Given the description of an element on the screen output the (x, y) to click on. 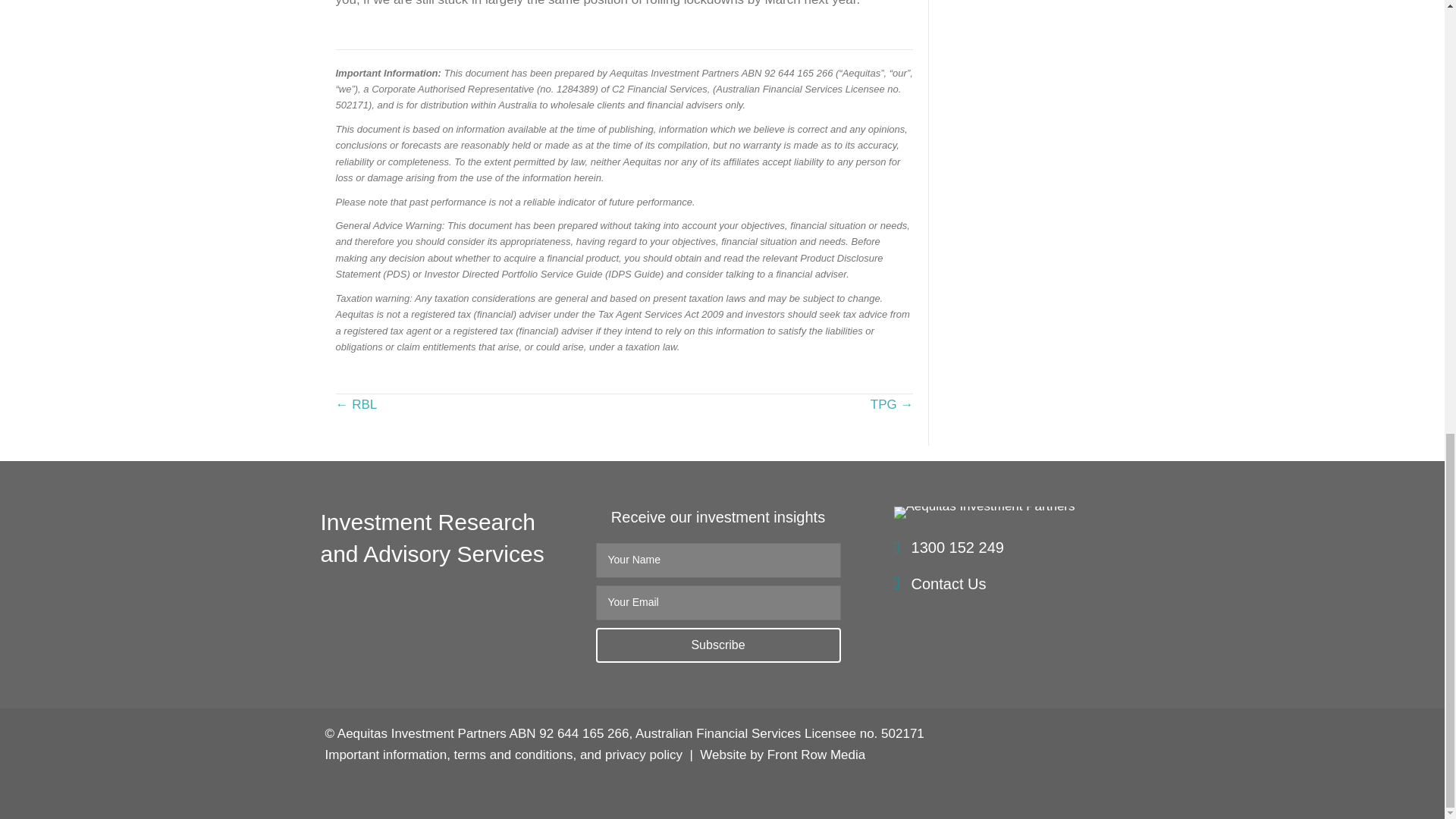
1300 152 249 (957, 547)
Aequitas Investment Partners (983, 512)
Contact Us (949, 584)
Click Here (718, 645)
Subscribe (718, 645)
